Given the description of an element on the screen output the (x, y) to click on. 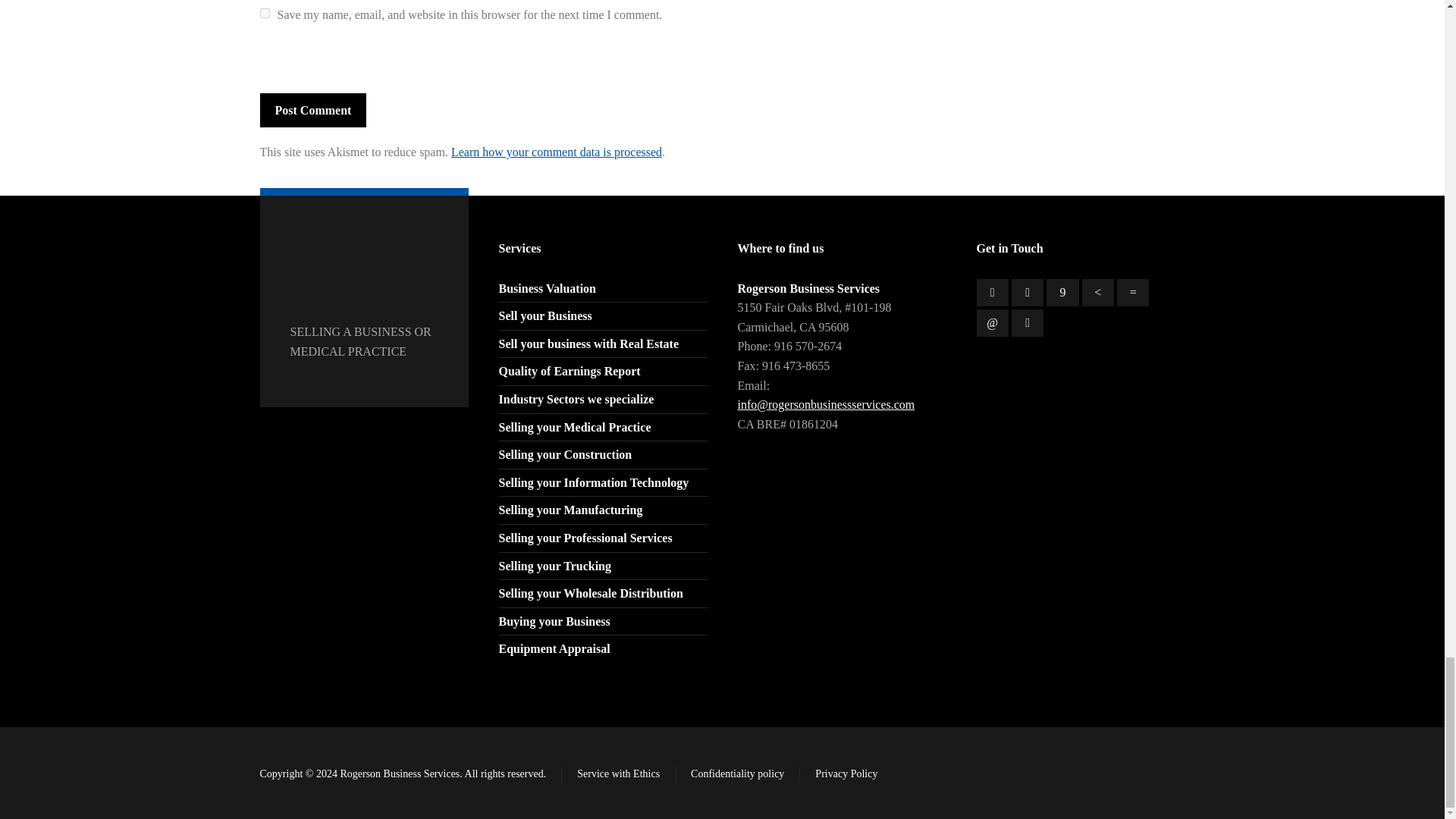
Post Comment (312, 110)
yes (264, 13)
